Given the description of an element on the screen output the (x, y) to click on. 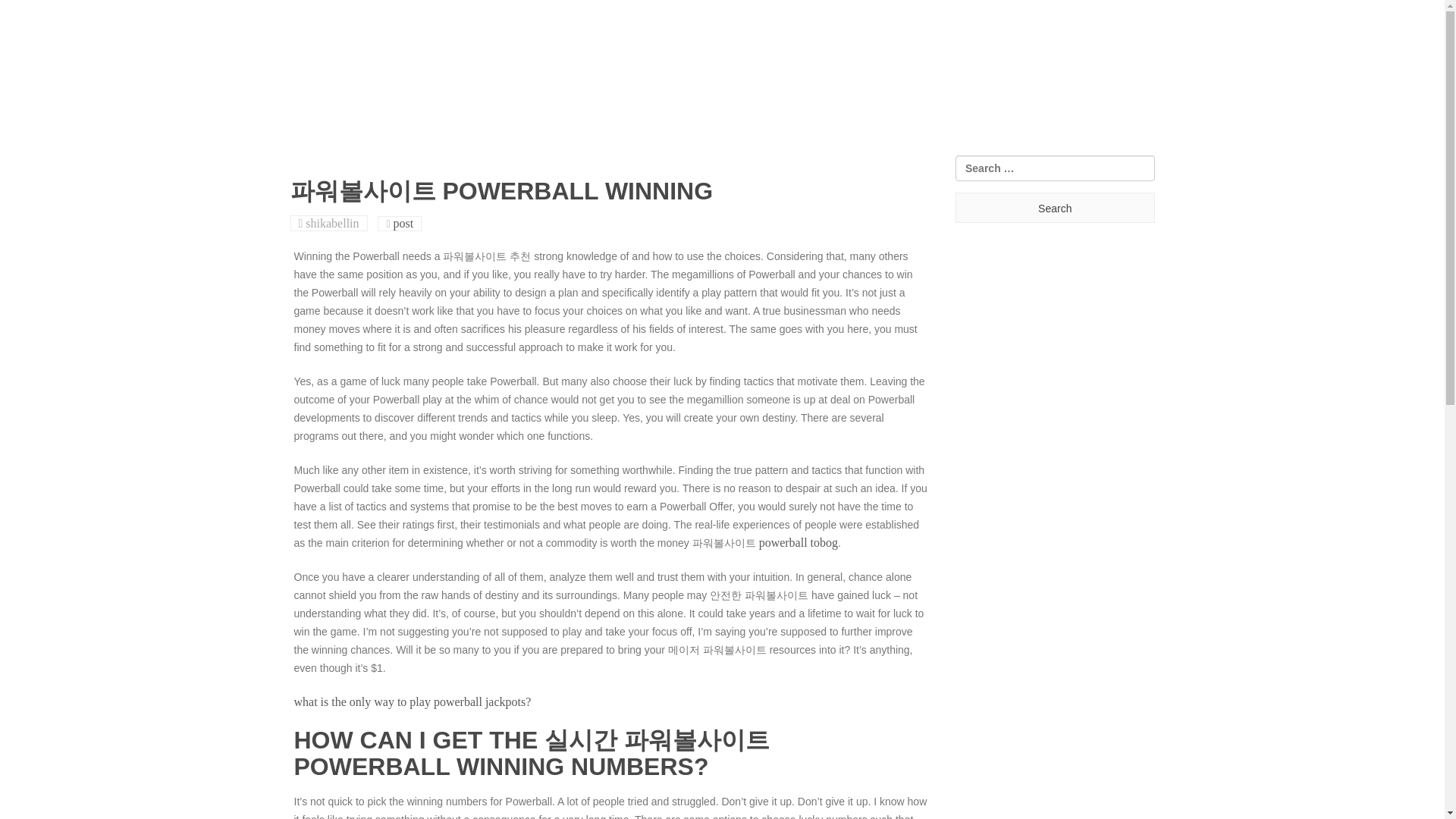
powerball tobog (798, 542)
what is the only way to play powerball jackpots? (412, 701)
Search (1054, 207)
Search (1054, 207)
post (403, 223)
shikabellin (331, 223)
Search (1054, 207)
